Given the description of an element on the screen output the (x, y) to click on. 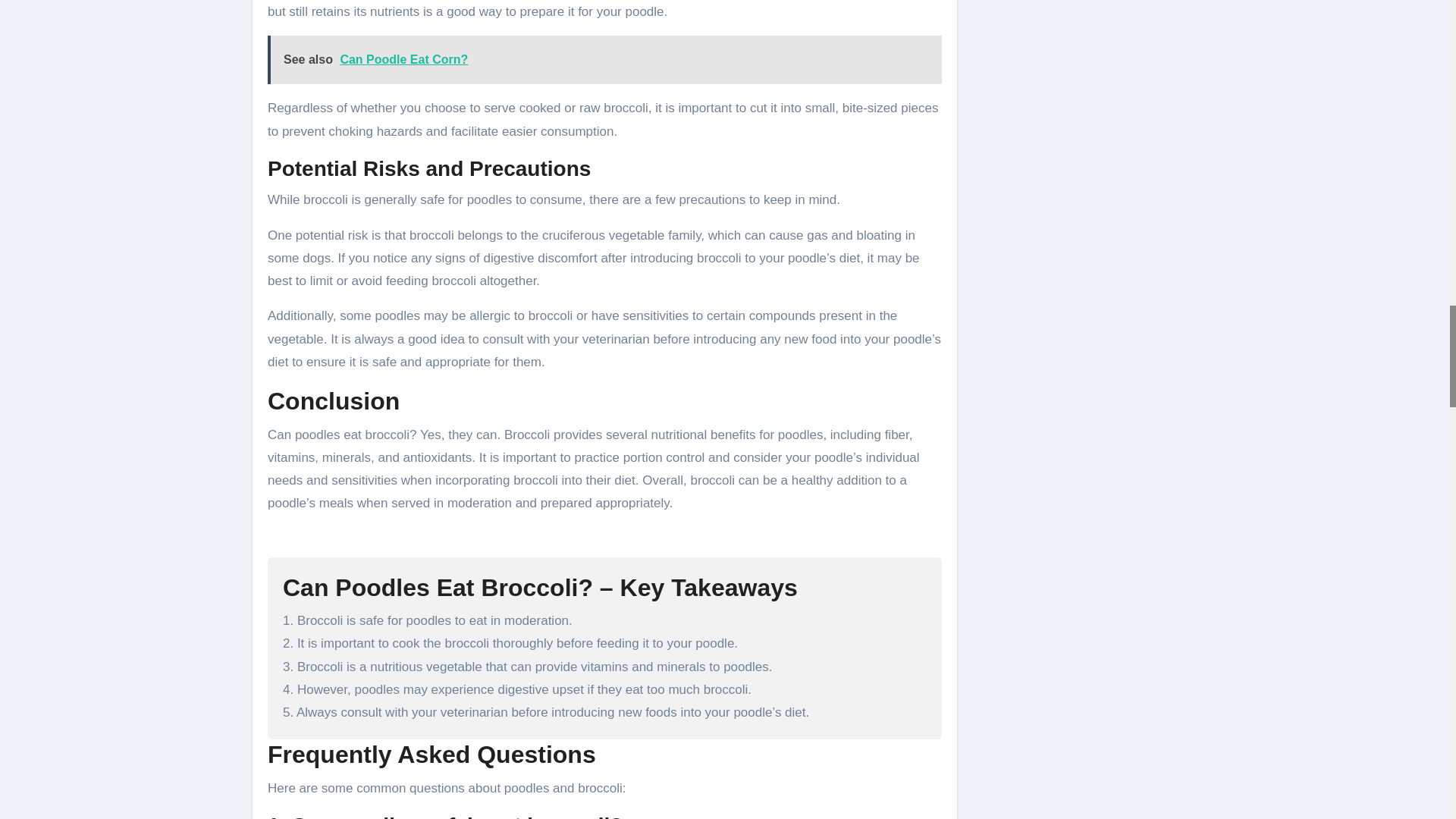
See also  Can Poodle Eat Corn? (604, 60)
